Given the description of an element on the screen output the (x, y) to click on. 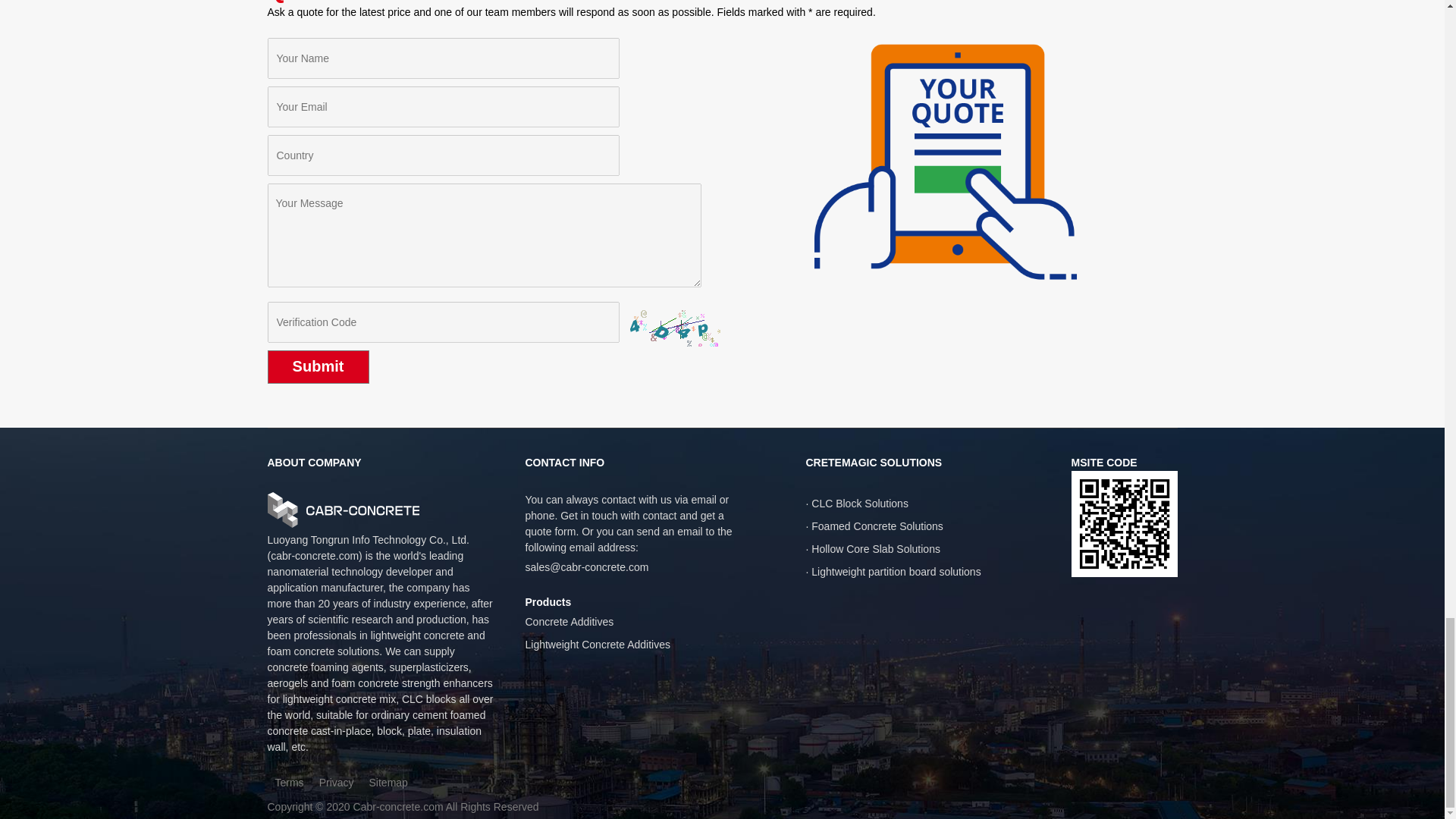
Submit (317, 367)
Concrete Additives (568, 621)
Lightweight Concrete Additives (596, 644)
